Given the description of an element on the screen output the (x, y) to click on. 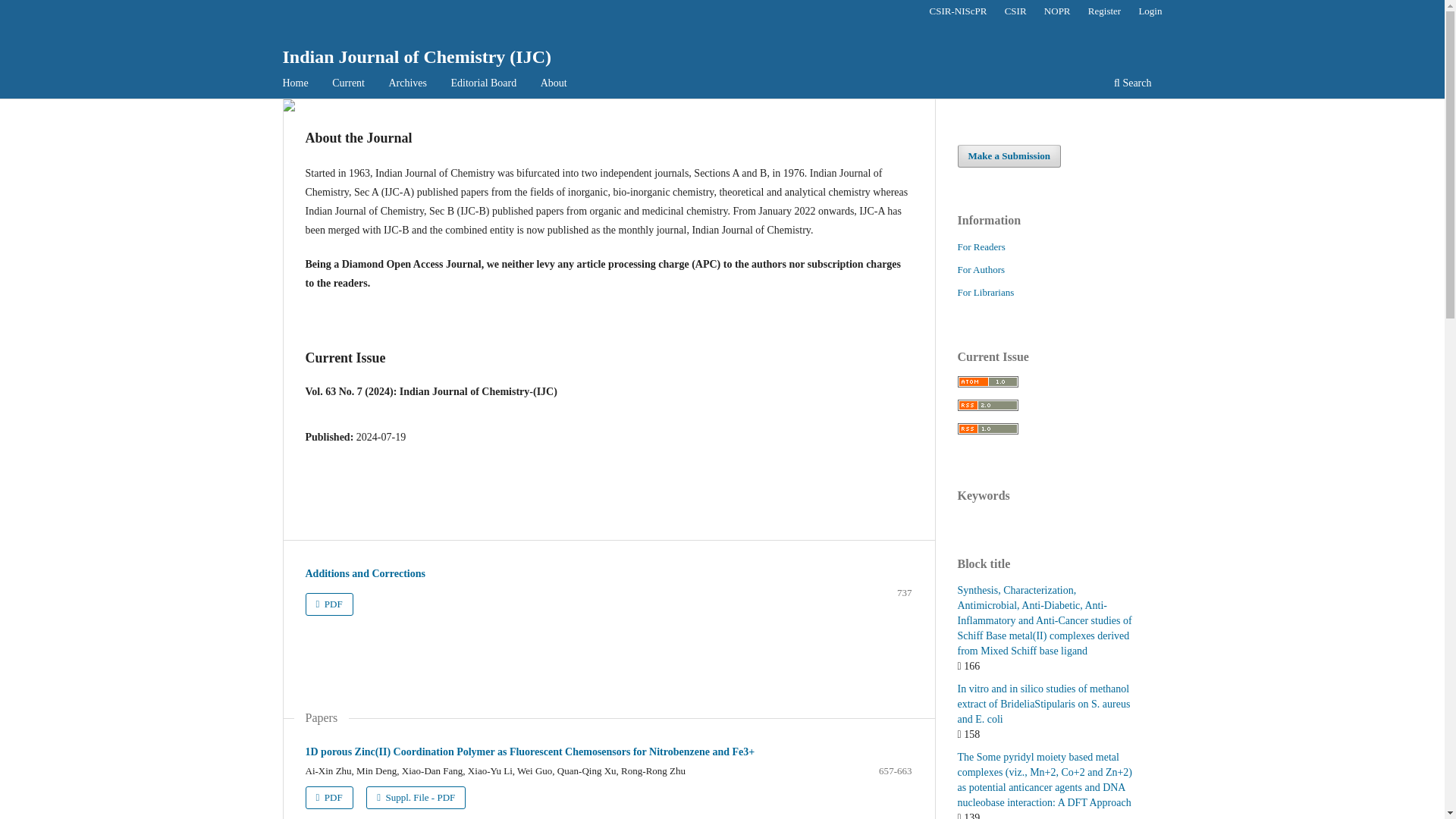
Home (296, 85)
Editorial Board (483, 85)
Archives (407, 85)
Search (1132, 85)
PDF (328, 797)
Current (347, 85)
NOPR (1057, 11)
Additions and Corrections (364, 573)
Register (1104, 11)
CSIR-NIScPR (957, 11)
